Given the description of an element on the screen output the (x, y) to click on. 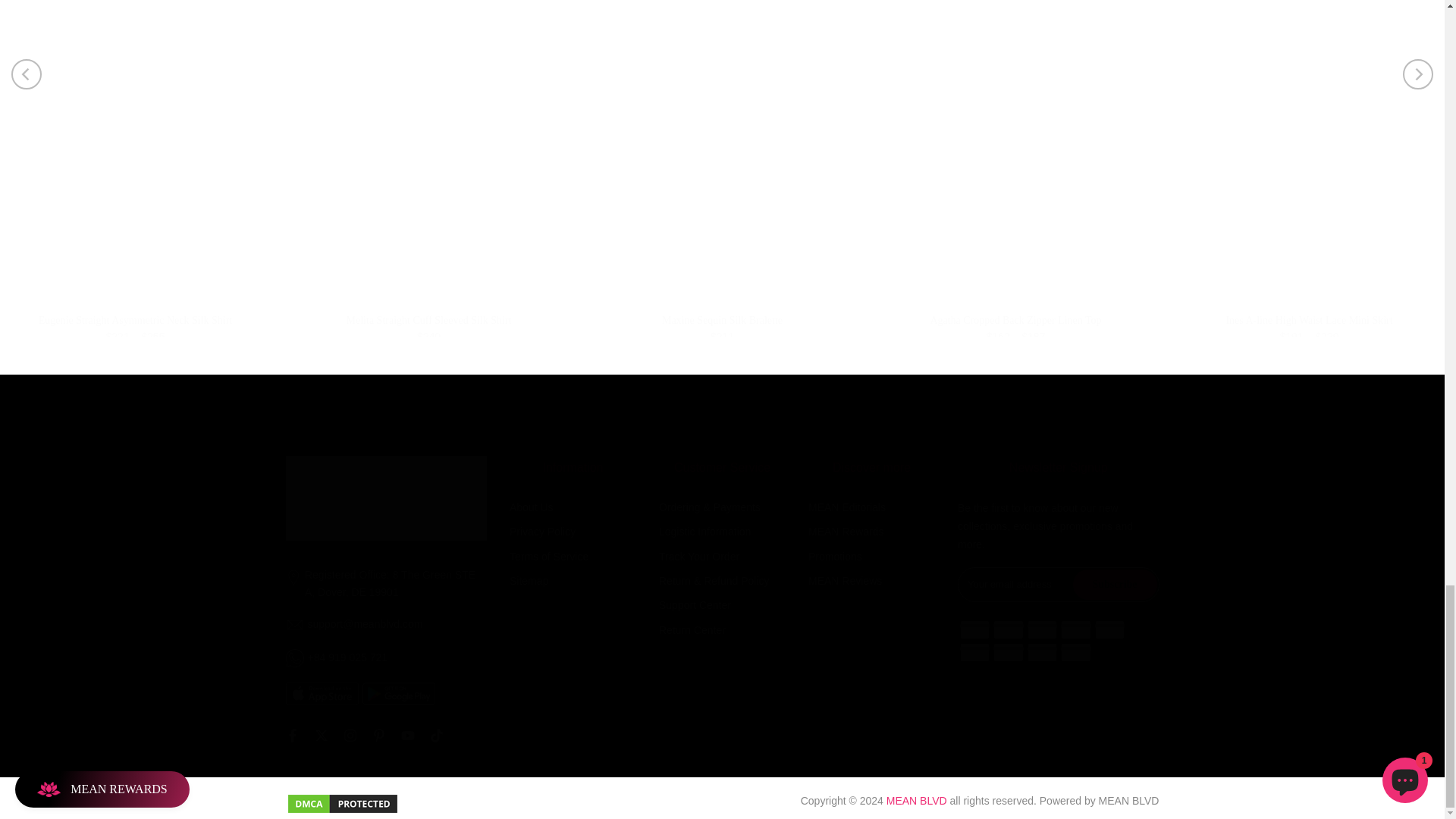
DMCA.com Protection Status (341, 802)
